Given the description of an element on the screen output the (x, y) to click on. 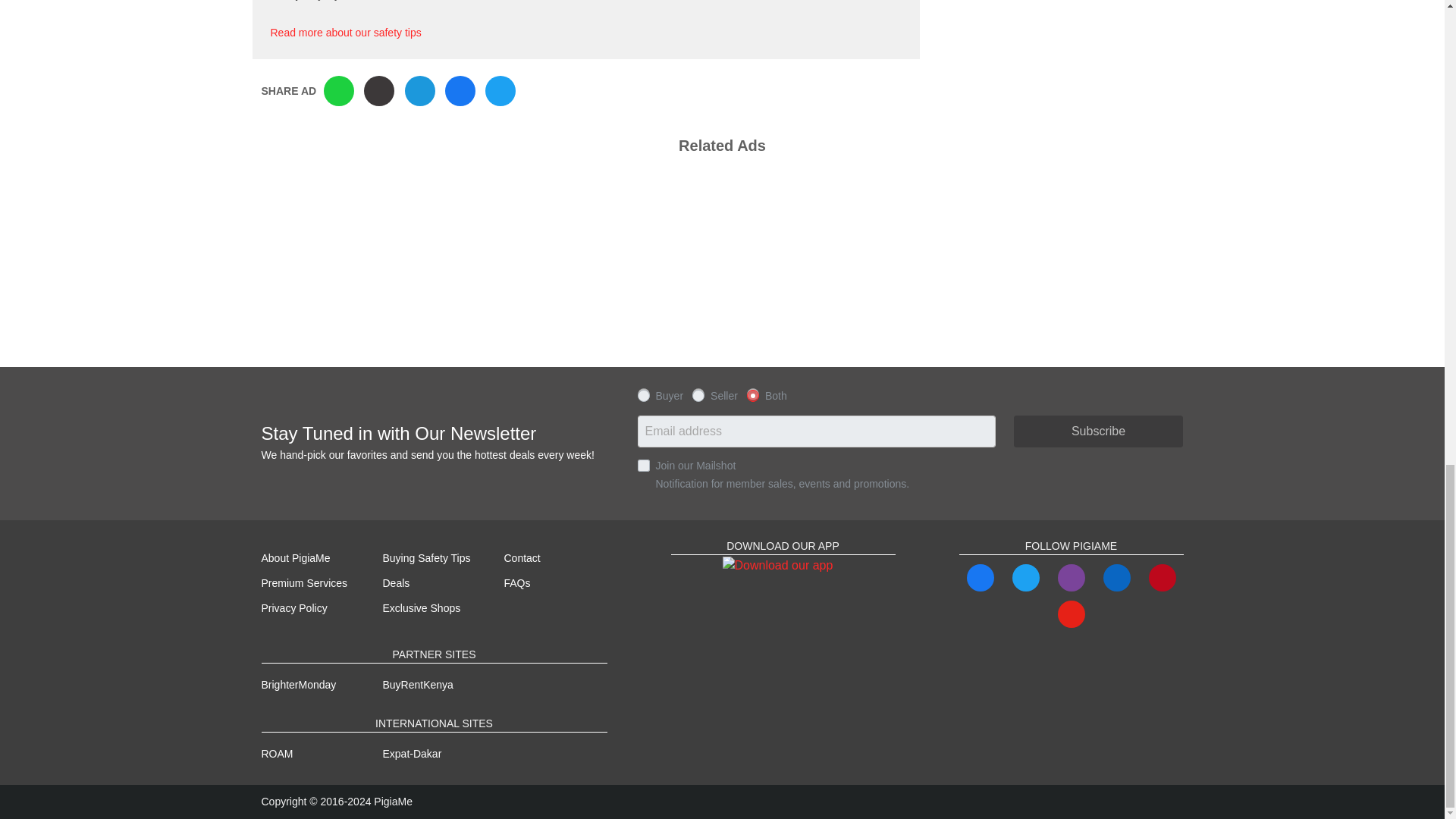
Share via Facebook (460, 91)
Share via Email (419, 91)
Copy link (379, 91)
Read more about our safety tips (344, 32)
Share via WhatsApp (338, 91)
Share via Twitter (499, 91)
